Given the description of an element on the screen output the (x, y) to click on. 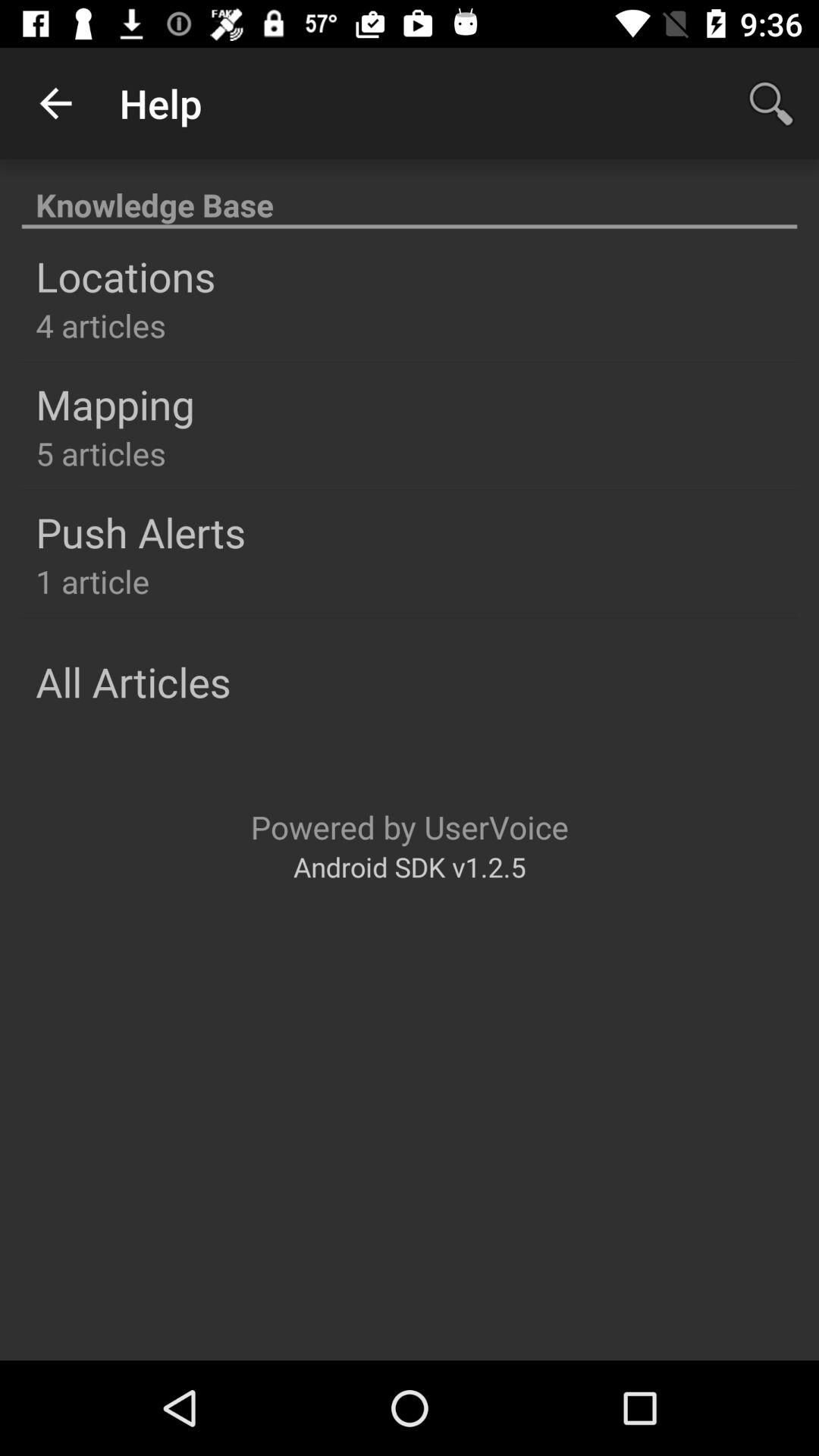
press app next to the help icon (771, 103)
